Given the description of an element on the screen output the (x, y) to click on. 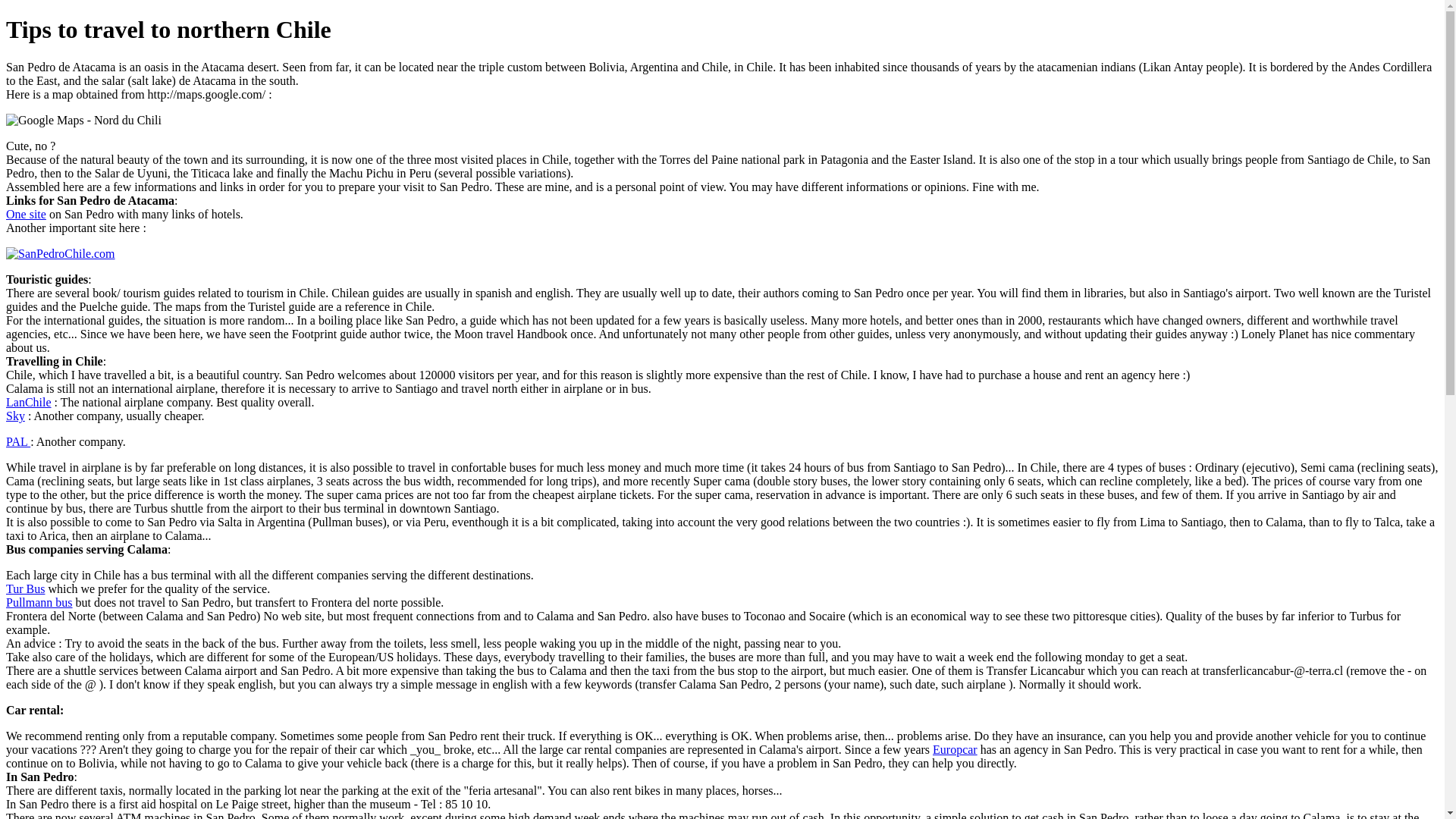
Sky (14, 415)
Europcar (954, 748)
One site (25, 214)
Google Maps - Nord du Chili (83, 120)
Tur Bus (25, 588)
SanPedroChile.com (60, 253)
Pullmann bus (38, 602)
SanPedroChile.com (60, 254)
LanChile (27, 401)
PAL  (17, 440)
